Given the description of an element on the screen output the (x, y) to click on. 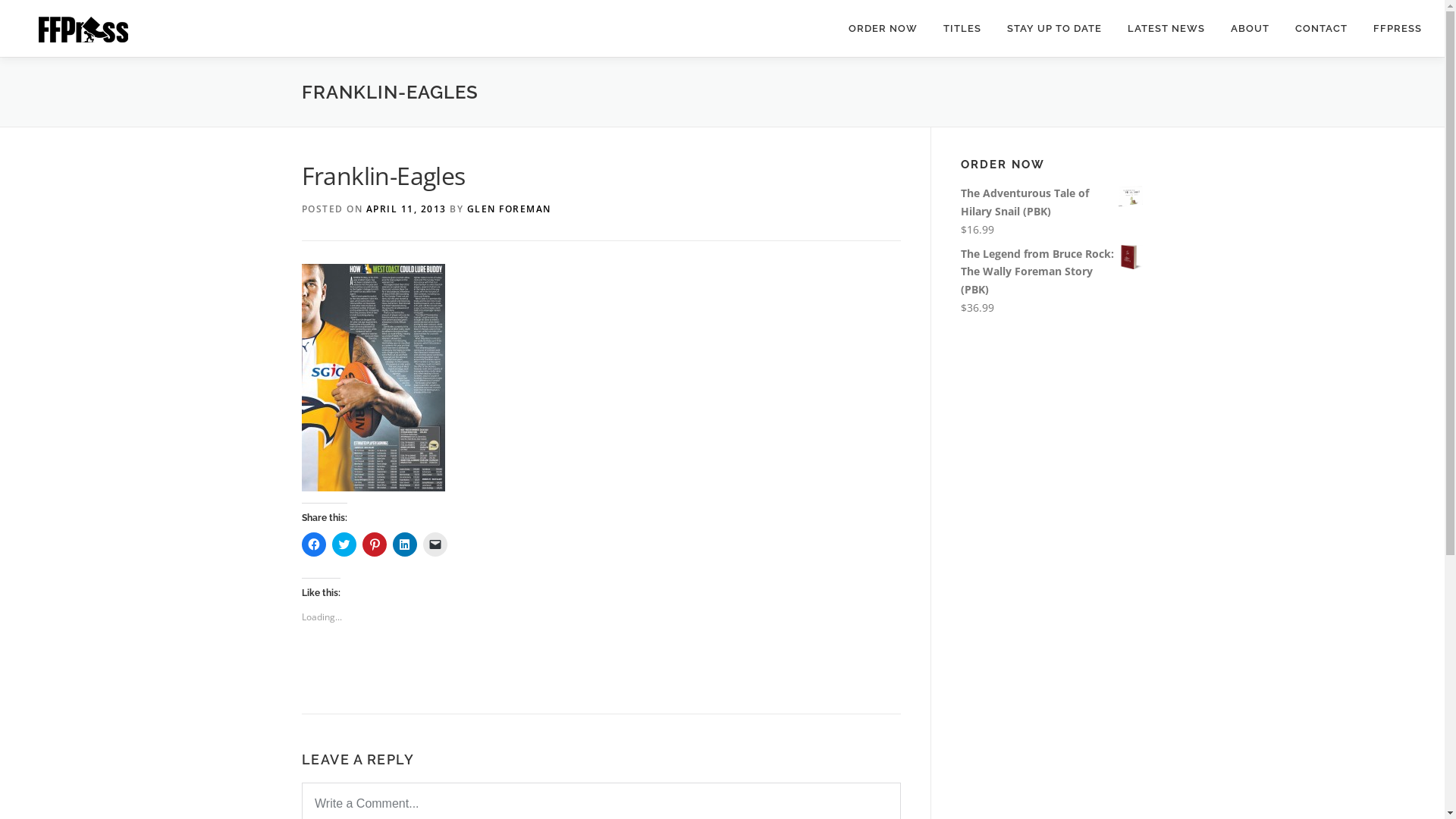
The Adventurous Tale of Hilary Snail (PBK) Element type: text (1051, 202)
Like or Reblog Element type: hover (600, 669)
ORDER NOW Element type: text (882, 28)
LATEST NEWS Element type: text (1165, 28)
TITLES Element type: text (962, 28)
Click to email a link to a friend (Opens in new window) Element type: text (435, 544)
FFPRESS Element type: text (1390, 28)
Click to share on Twitter (Opens in new window) Element type: text (344, 544)
Click to share on LinkedIn (Opens in new window) Element type: text (404, 544)
STAY UP TO DATE Element type: text (1054, 28)
GLEN FOREMAN Element type: text (509, 208)
ABOUT Element type: text (1249, 28)
CONTACT Element type: text (1321, 28)
The Legend from Bruce Rock: The Wally Foreman Story (PBK) Element type: text (1051, 271)
Click to share on Pinterest (Opens in new window) Element type: text (374, 544)
APRIL 11, 2013 Element type: text (405, 208)
Click to share on Facebook (Opens in new window) Element type: text (313, 544)
